Given the description of an element on the screen output the (x, y) to click on. 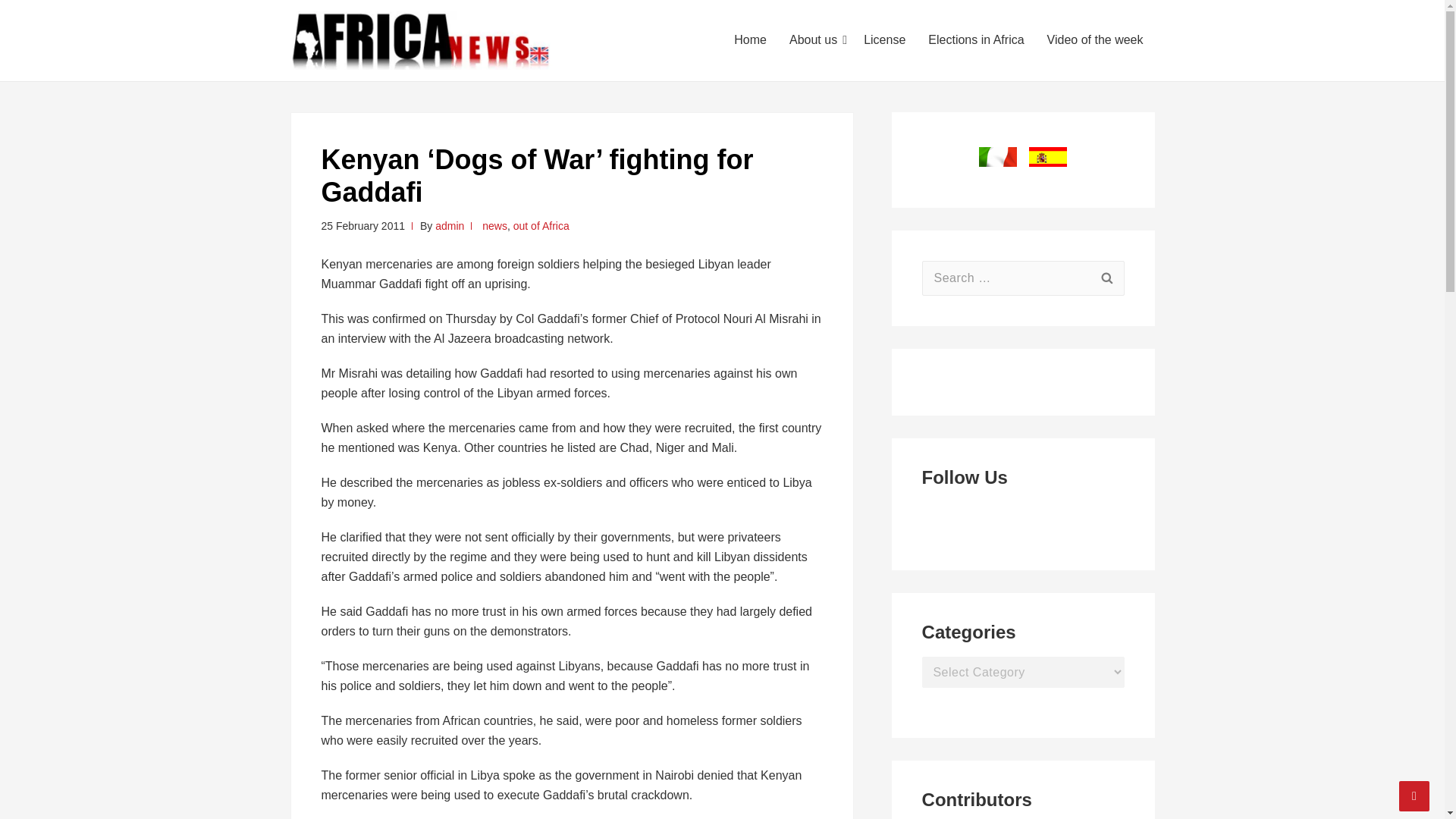
news (493, 225)
License (884, 39)
LinkedIn (972, 512)
admin (449, 225)
Twitter (951, 512)
View all posts by admin (449, 225)
Facebook (930, 512)
Home (749, 39)
About us (814, 39)
out of Africa (541, 225)
